Given the description of an element on the screen output the (x, y) to click on. 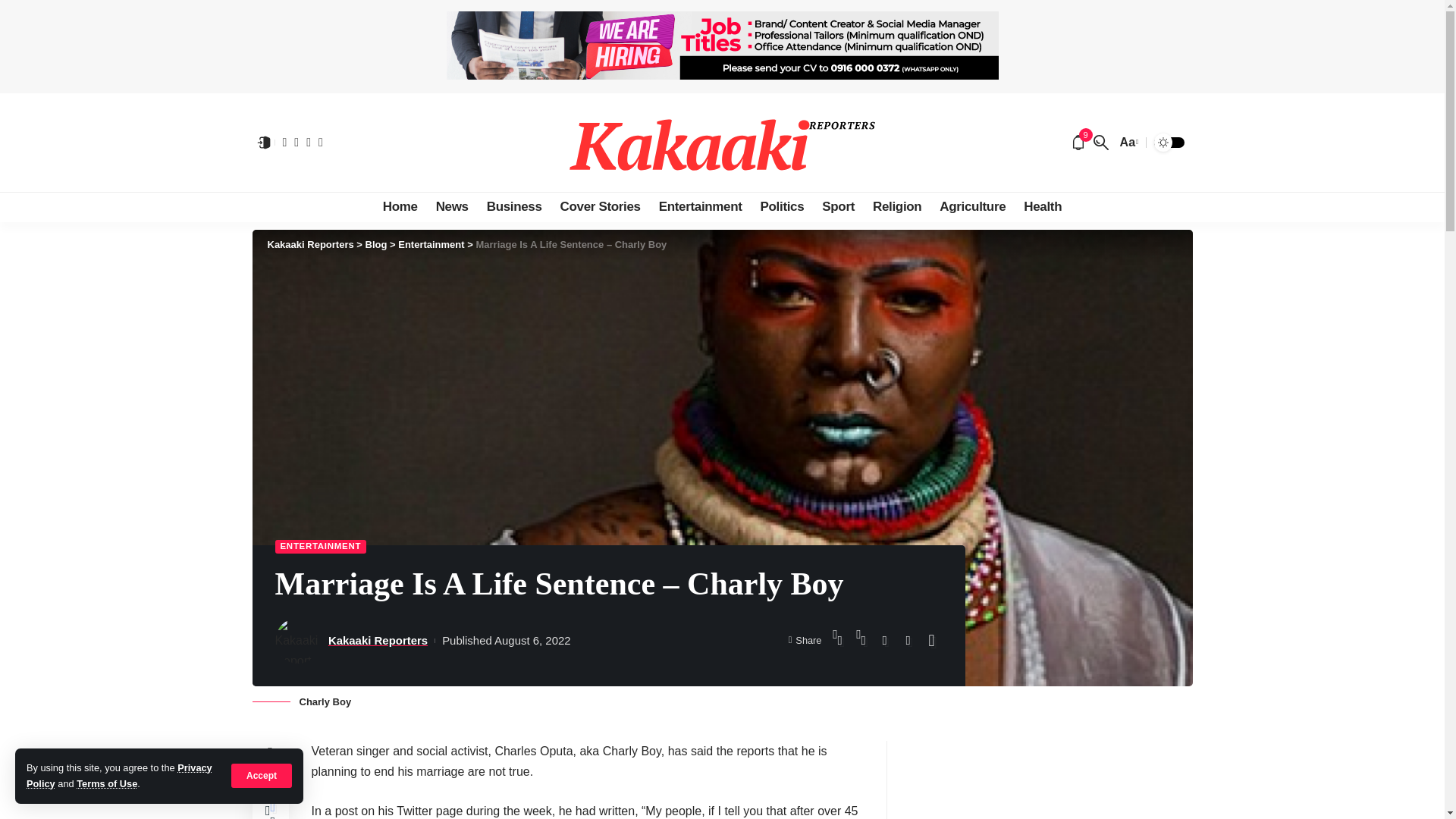
Kakaaki Reporters (721, 142)
9 (1078, 142)
Go to Blog. (376, 244)
Privacy Policy (119, 775)
Terms of Use (106, 783)
Go to Kakaaki Reporters. (309, 244)
Accept (261, 775)
Go to the Entertainment Category archives. (430, 244)
